Given the description of an element on the screen output the (x, y) to click on. 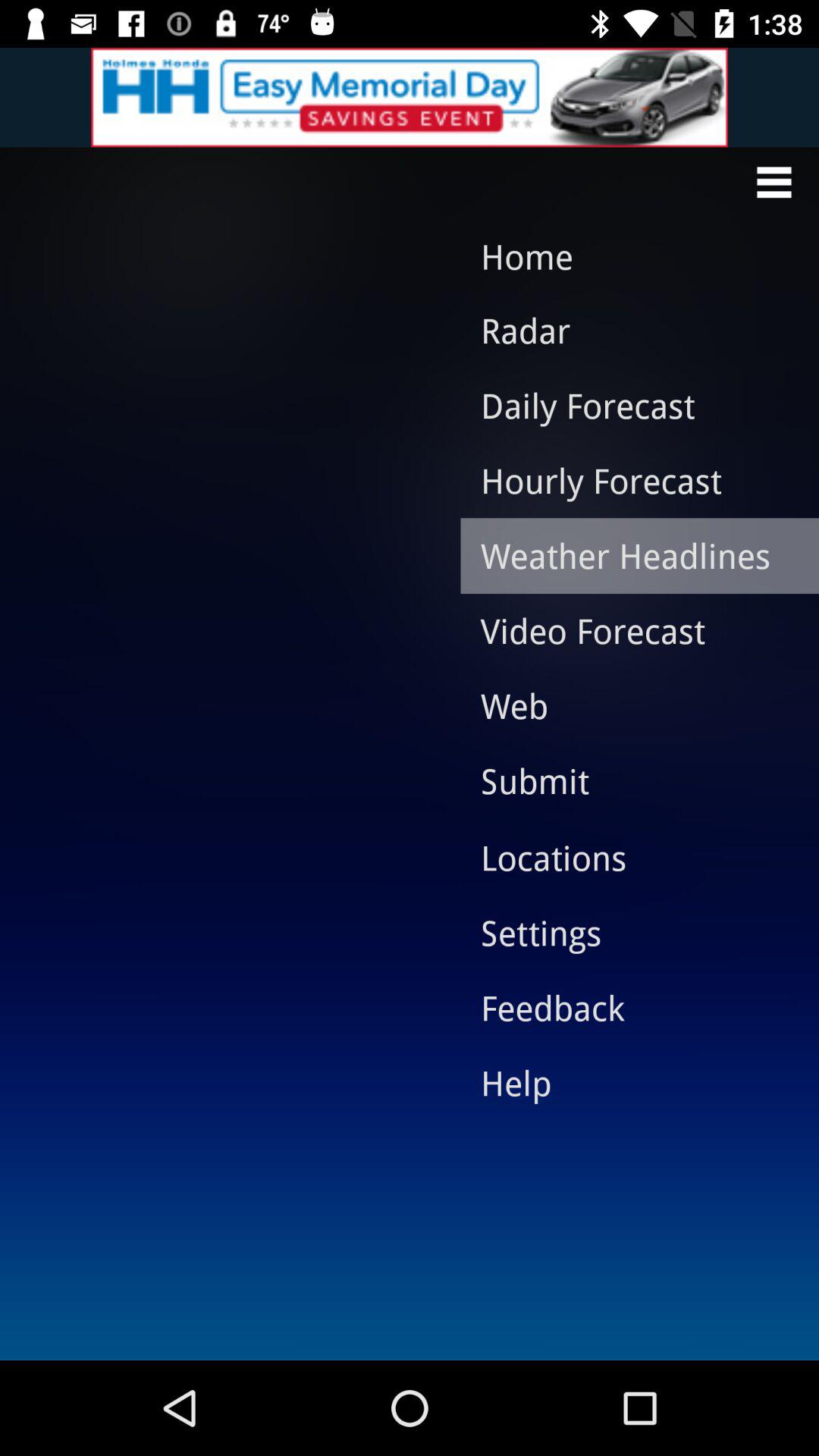
choose item below home (627, 330)
